Given the description of an element on the screen output the (x, y) to click on. 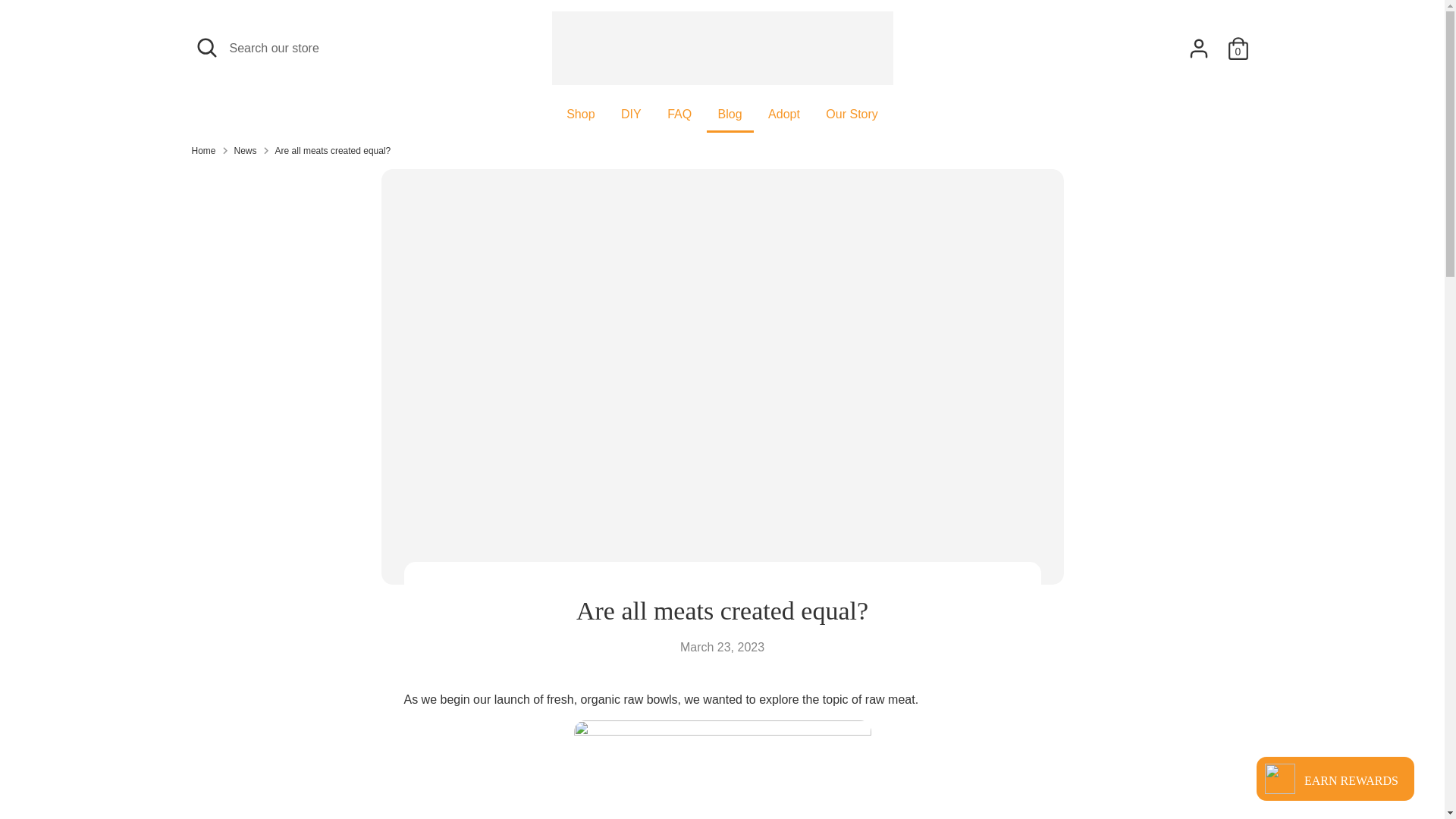
Adopt (783, 118)
Blog (730, 118)
FAQ (679, 118)
0 (1237, 48)
DIY (631, 118)
Our Story (850, 118)
Shop (579, 118)
